Given the description of an element on the screen output the (x, y) to click on. 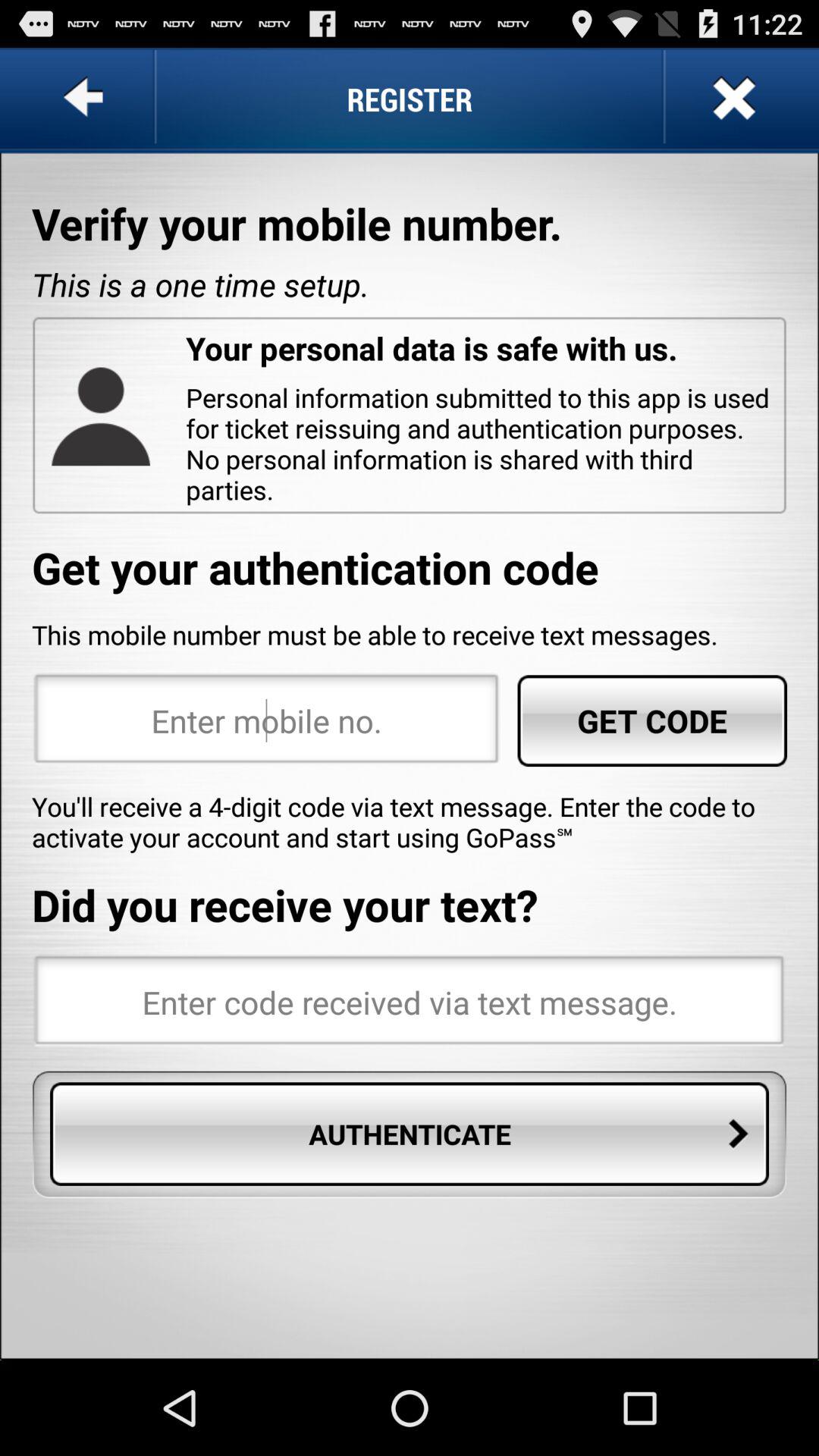
choose the app next to the register app (86, 99)
